Given the description of an element on the screen output the (x, y) to click on. 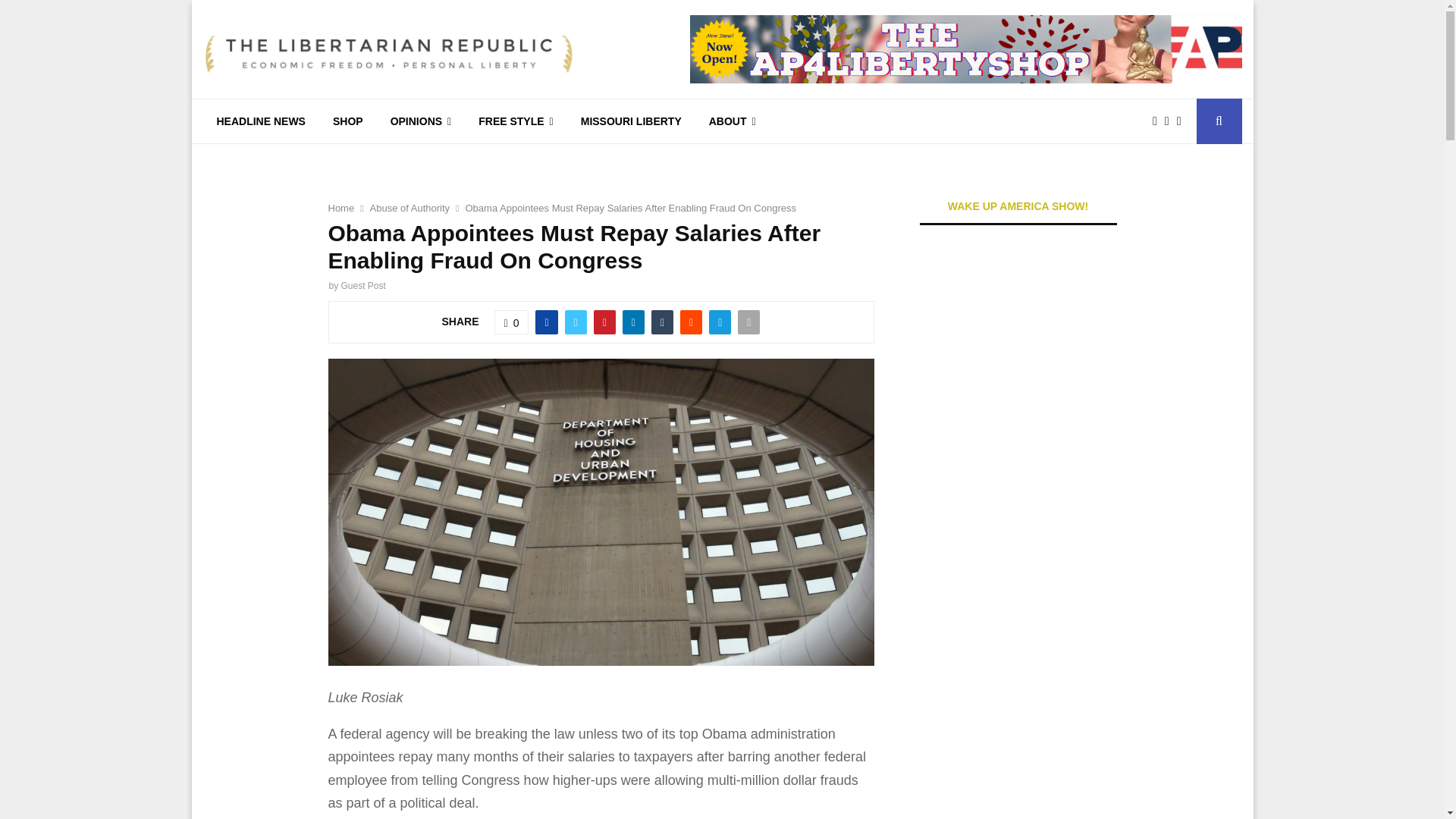
MISSOURI LIBERTY (631, 121)
Abuse of Authority (409, 207)
ABOUT (732, 121)
Guest Post (362, 285)
FREE STYLE (515, 121)
OPINIONS (421, 121)
Like (512, 322)
SHOP (347, 121)
Home (340, 207)
